Given the description of an element on the screen output the (x, y) to click on. 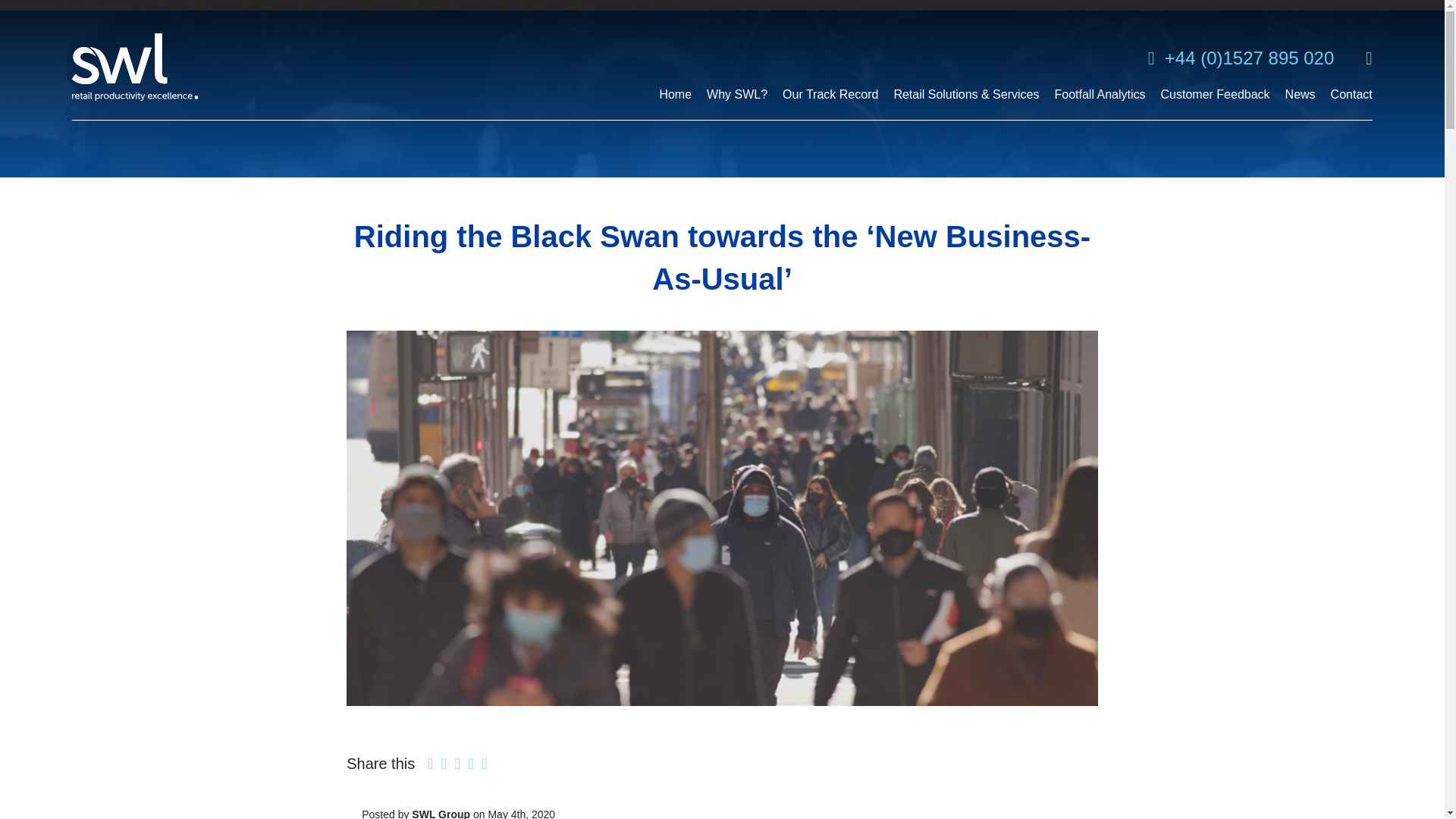
Home (675, 102)
News (1300, 102)
Footfall Analytics (1099, 102)
Why SWL? (736, 102)
Contact (1351, 102)
Customer Feedback (1214, 102)
Our Track Record (830, 102)
